Given the description of an element on the screen output the (x, y) to click on. 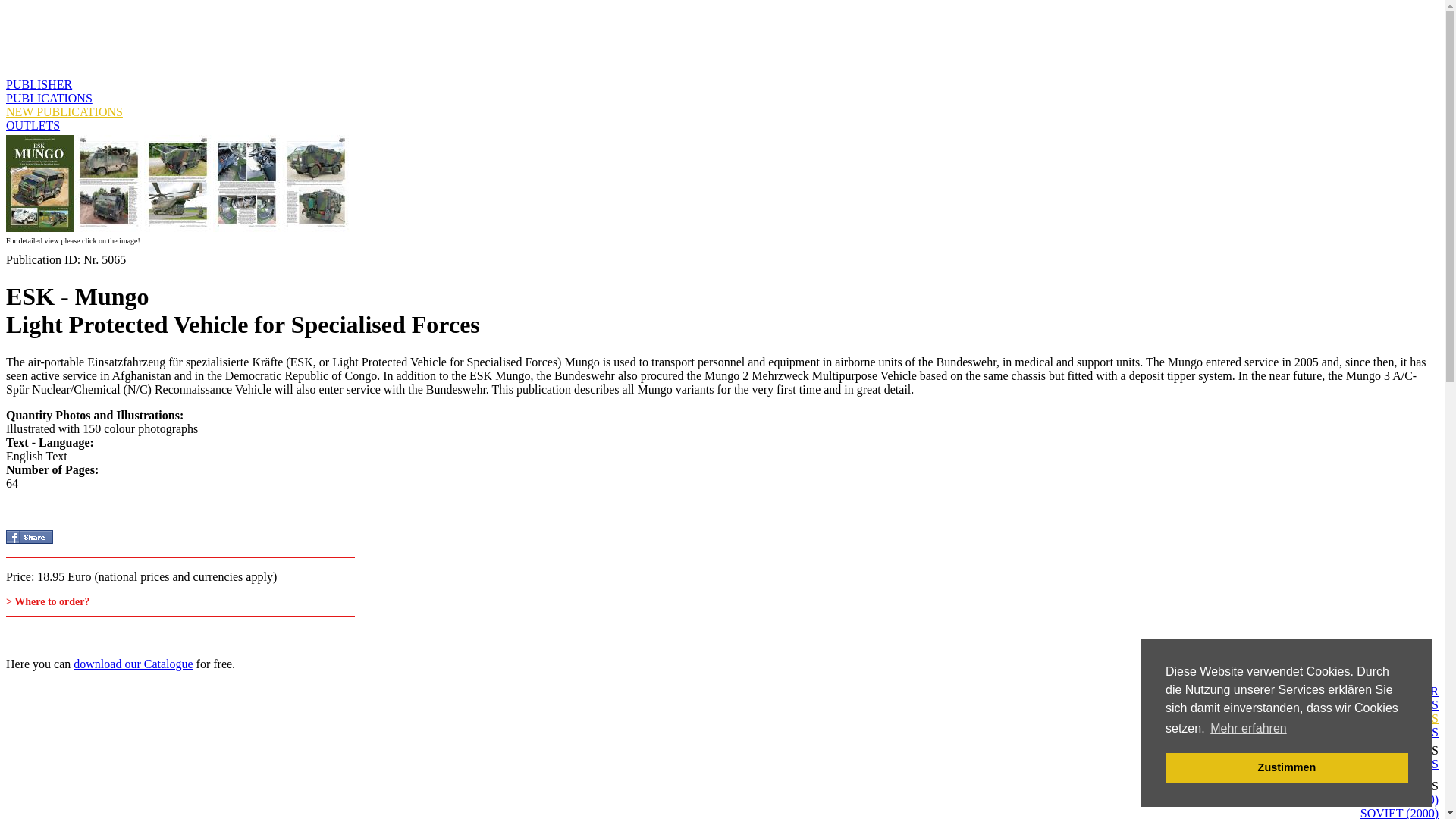
PUBLISHER (38, 83)
PUBLICATIONS (49, 97)
Mehr erfahren (1248, 728)
OUTLETS (32, 124)
Zustimmen (1286, 767)
NEW PUBLICATIONS (63, 111)
download our Catalogue (133, 663)
Facebook (28, 536)
